Given the description of an element on the screen output the (x, y) to click on. 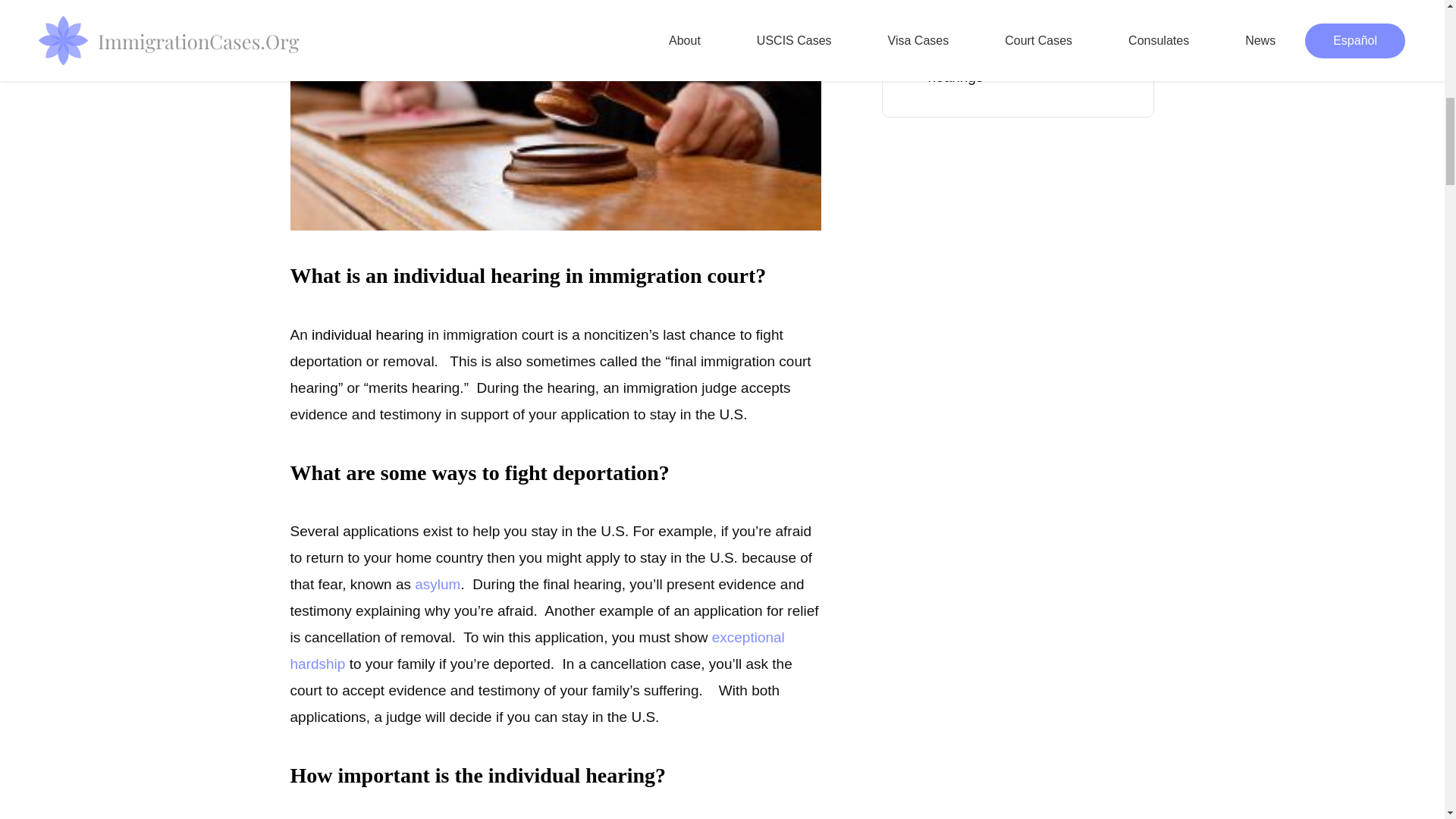
asylum (437, 584)
Winning your court case (1018, 25)
individual hearing (555, 115)
Master versus individual hearings (1018, 68)
Whether to hire an immigration lawyer (1018, 4)
exceptional hardship (536, 650)
